Given the description of an element on the screen output the (x, y) to click on. 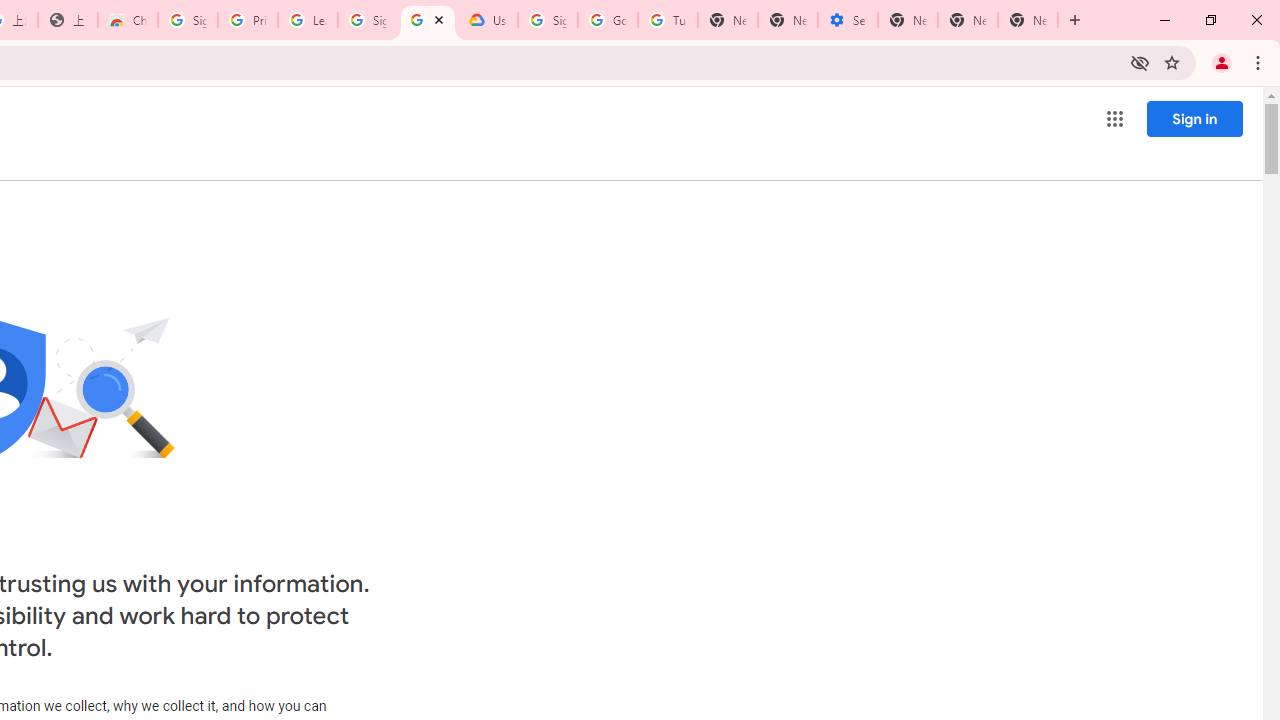
New Tab (1028, 20)
Sign in - Google Accounts (187, 20)
